Given the description of an element on the screen output the (x, y) to click on. 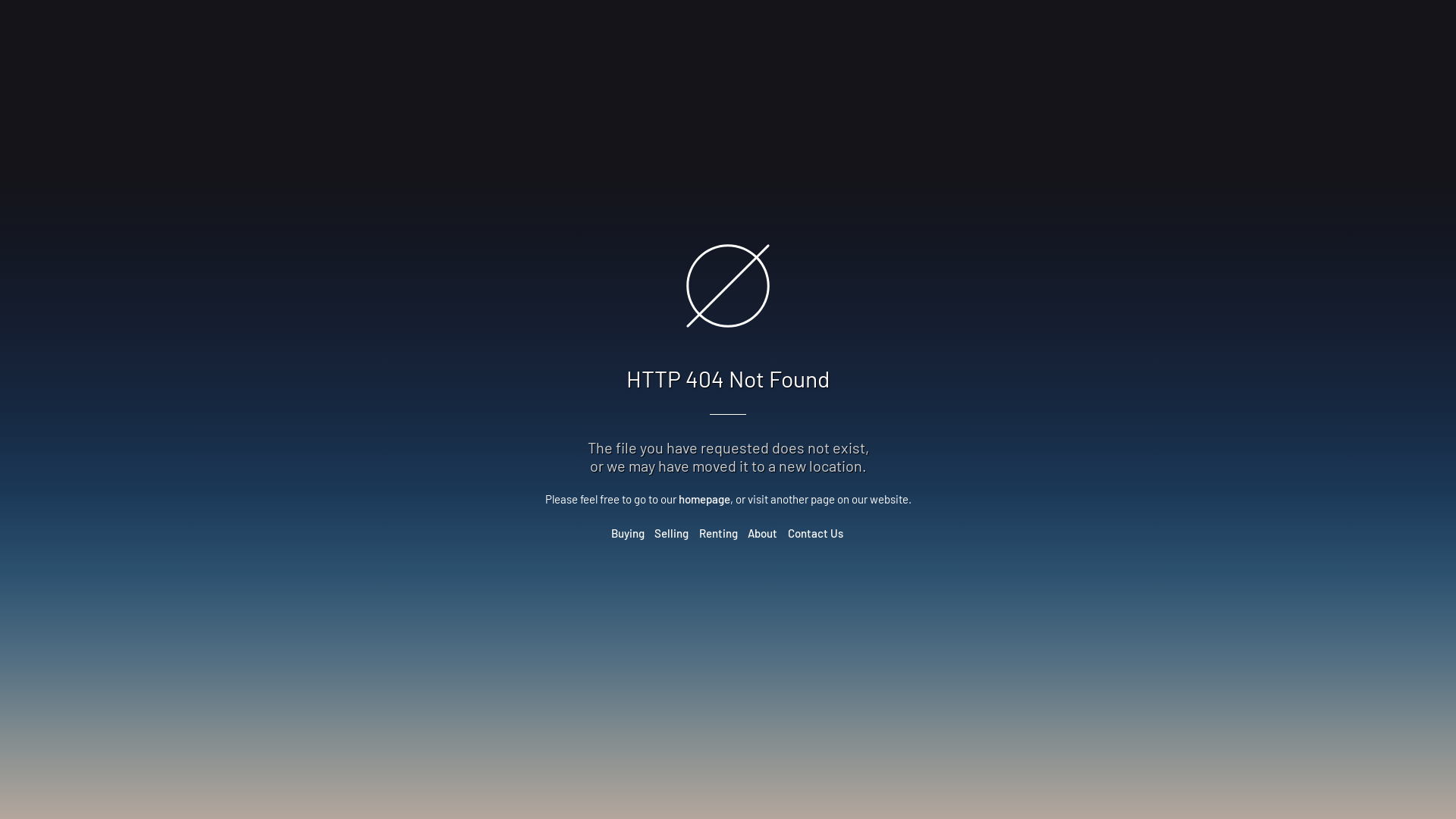
Buying Element type: text (627, 532)
Selling Element type: text (671, 532)
About Element type: text (762, 532)
homepage Element type: text (703, 498)
Contact Us Element type: text (814, 532)
Renting Element type: text (718, 532)
